Given the description of an element on the screen output the (x, y) to click on. 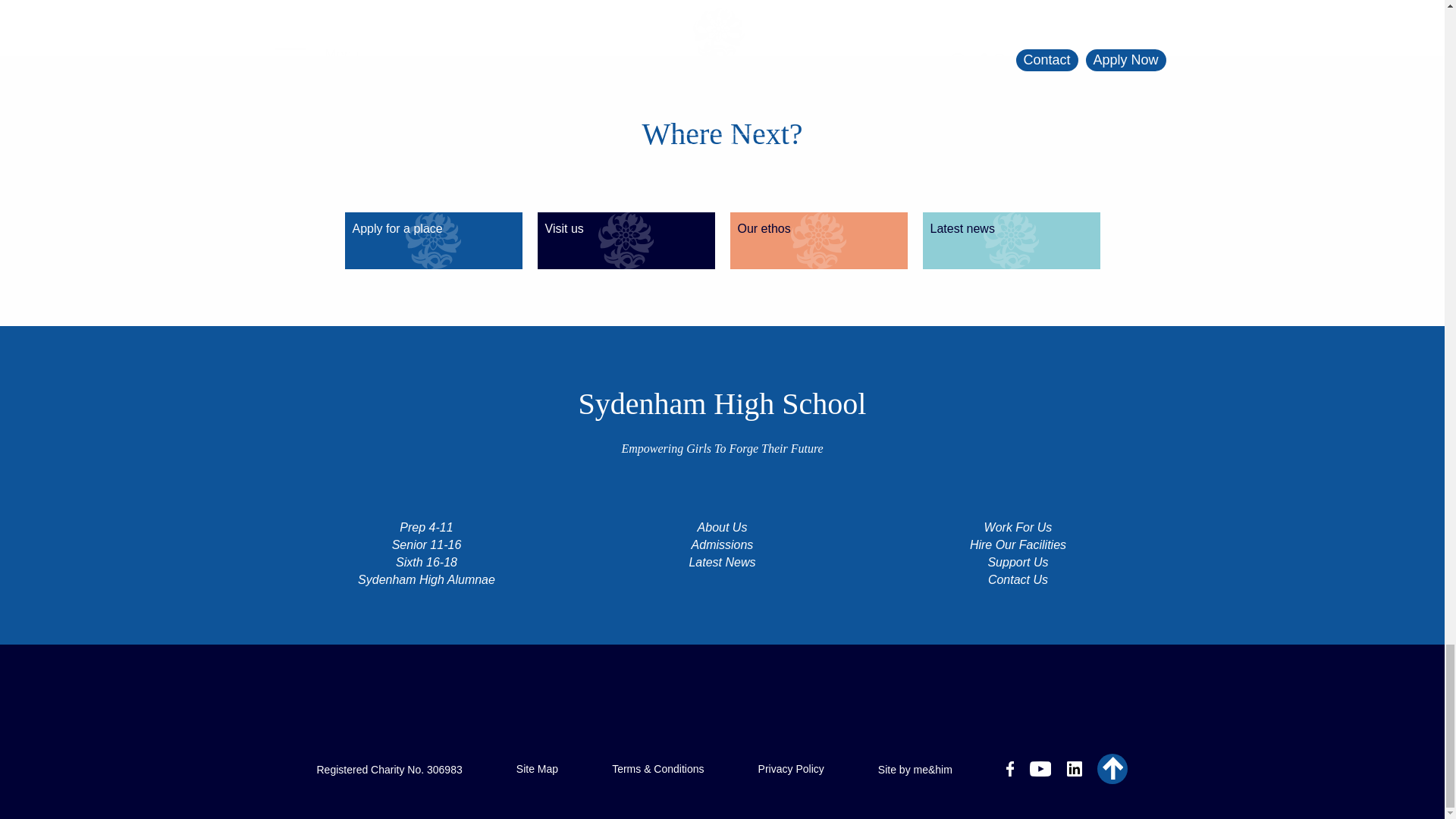
Sydenham High School Youtube Account (1040, 771)
Sydenham High School Youtube Account (1040, 768)
